Given the description of an element on the screen output the (x, y) to click on. 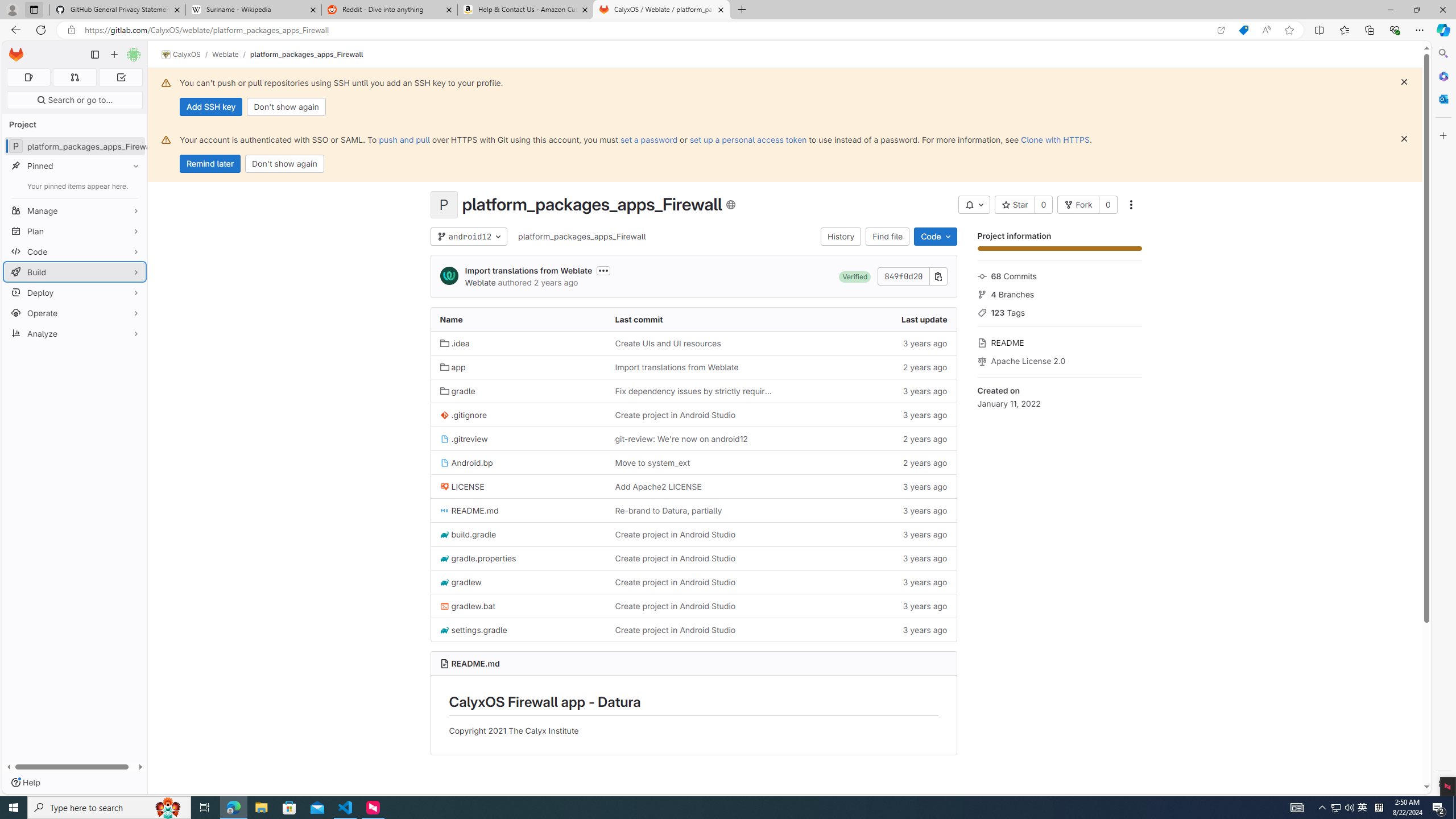
Last commit (693, 319)
README.md (475, 663)
Last update (868, 319)
Dismiss (1403, 138)
git-review: We're now on android12 (681, 438)
Don't show again (284, 163)
3 years ago (868, 629)
Fork (1078, 204)
Add Apache2 LICENSE (657, 486)
Apache License 2.0 (1058, 359)
Find file (888, 236)
